Given the description of an element on the screen output the (x, y) to click on. 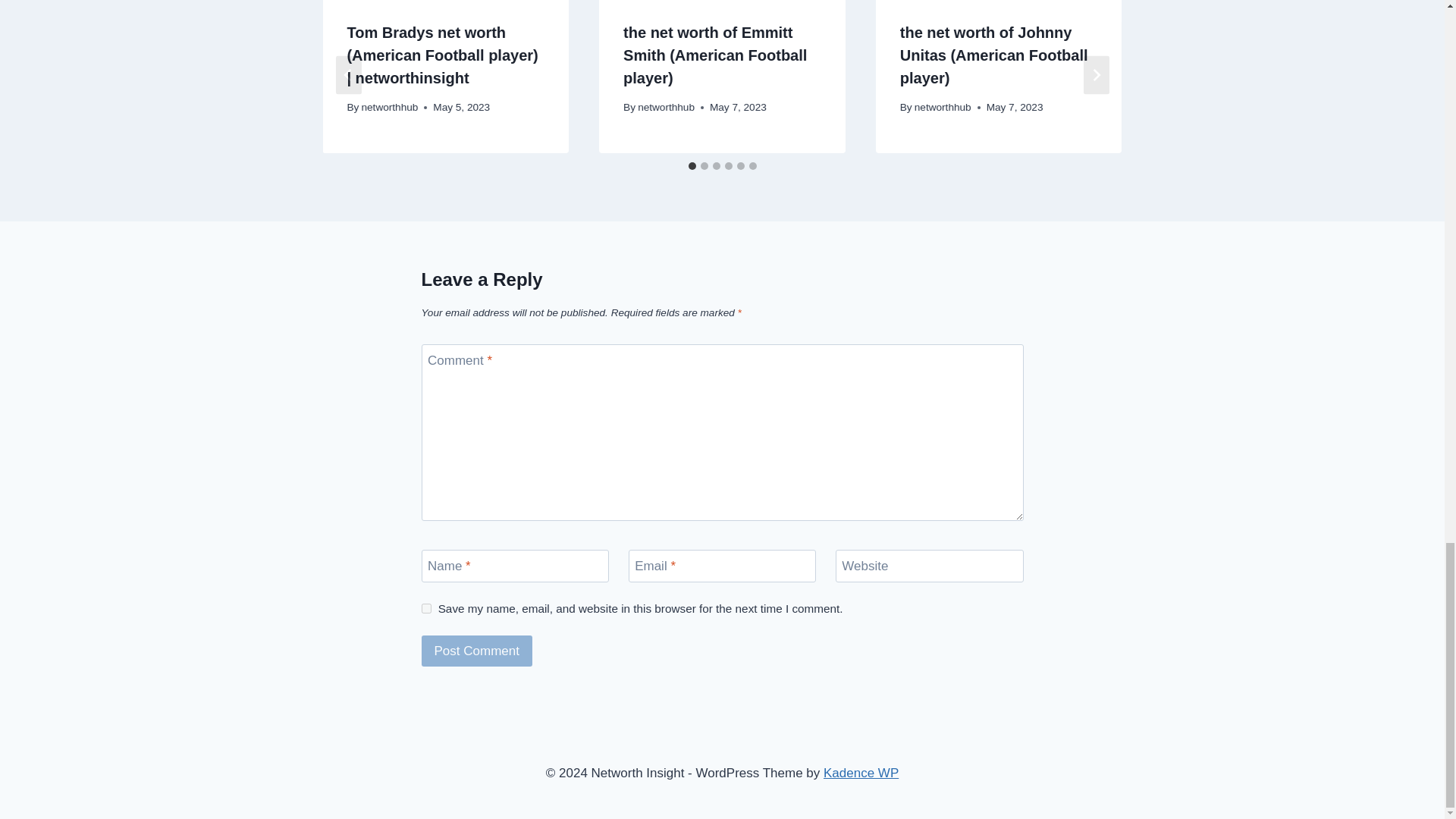
yes (426, 608)
Post Comment (477, 650)
